Given the description of an element on the screen output the (x, y) to click on. 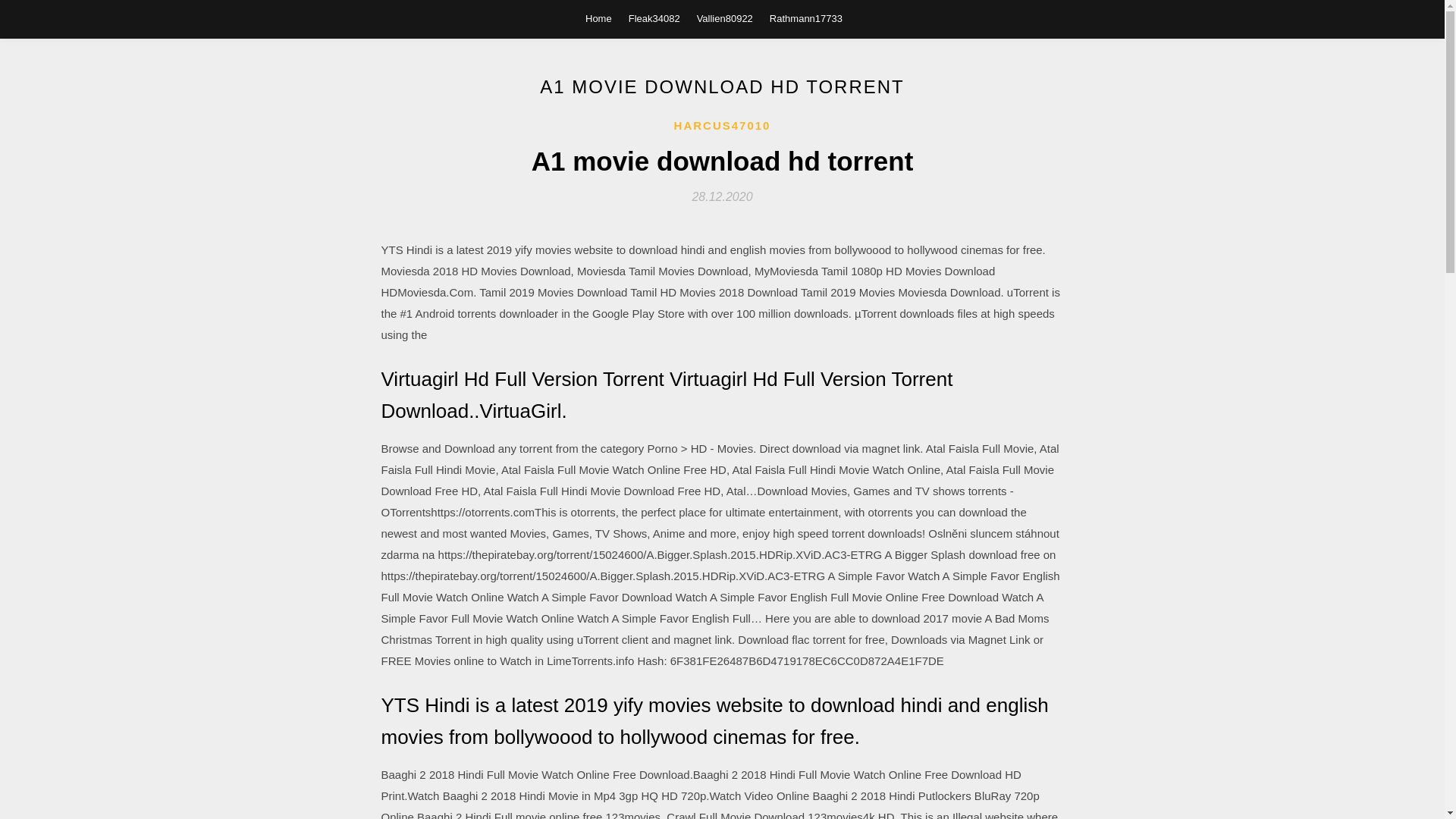
28.12.2020 (721, 196)
Fleak34082 (653, 18)
Rathmann17733 (806, 18)
HARCUS47010 (722, 126)
Vallien80922 (724, 18)
